Given the description of an element on the screen output the (x, y) to click on. 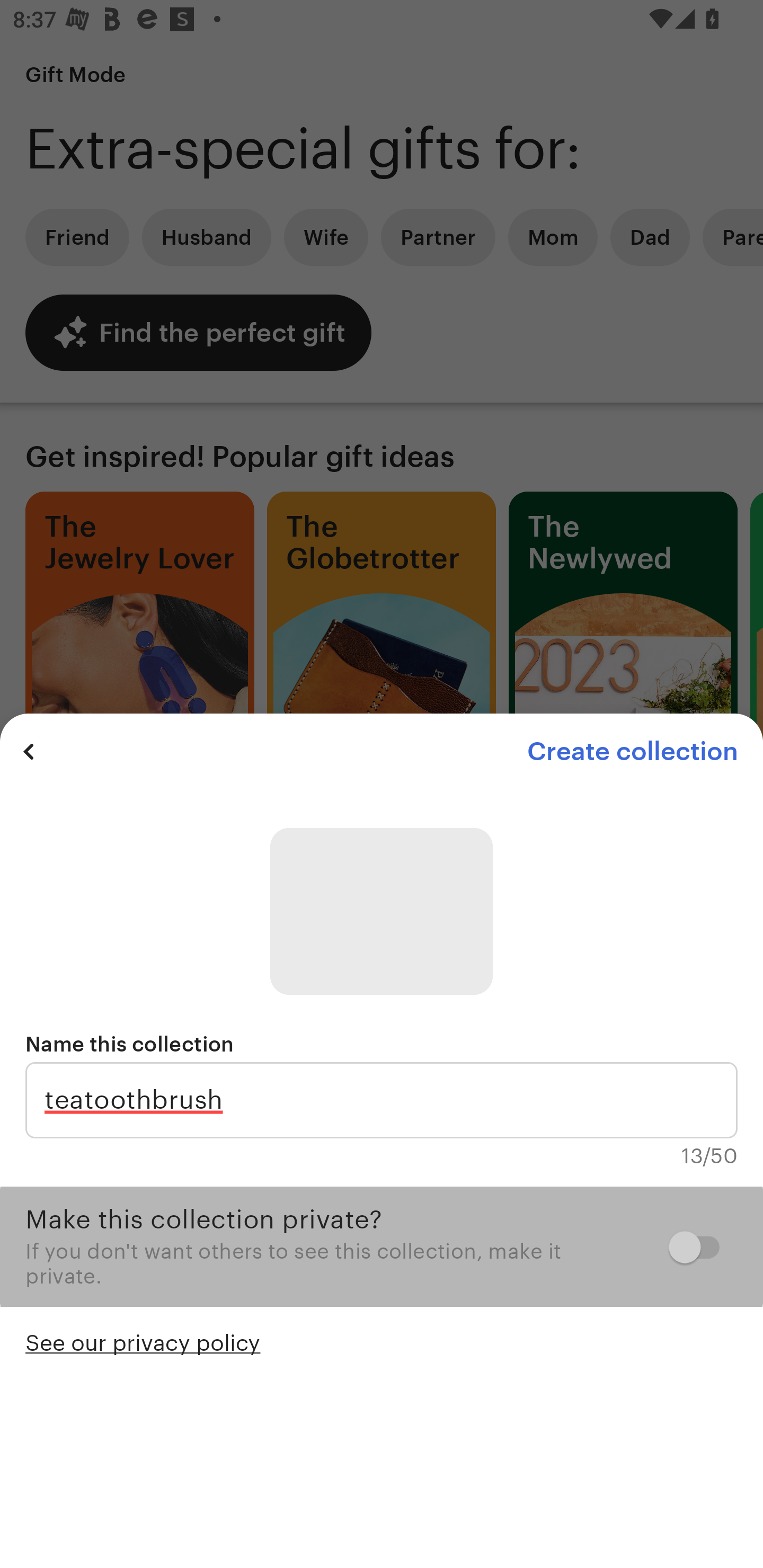
Previous (28, 751)
Create collection (632, 751)
teatoothbrush (381, 1099)
See our privacy policy (142, 1341)
